Given the description of an element on the screen output the (x, y) to click on. 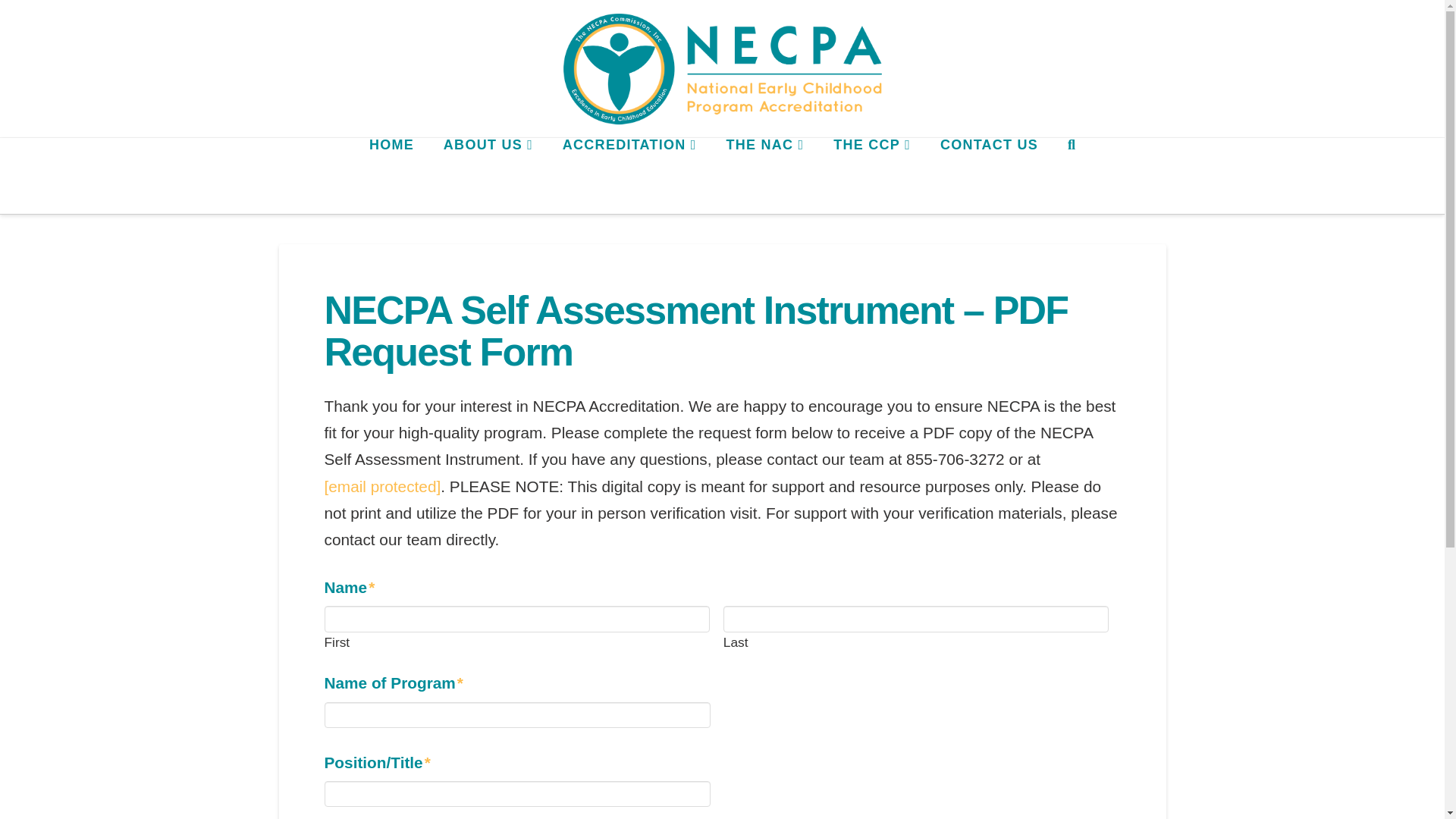
THE NAC (764, 175)
HOME (390, 175)
ABOUT US (487, 175)
ACCREDITATION (629, 175)
